Given the description of an element on the screen output the (x, y) to click on. 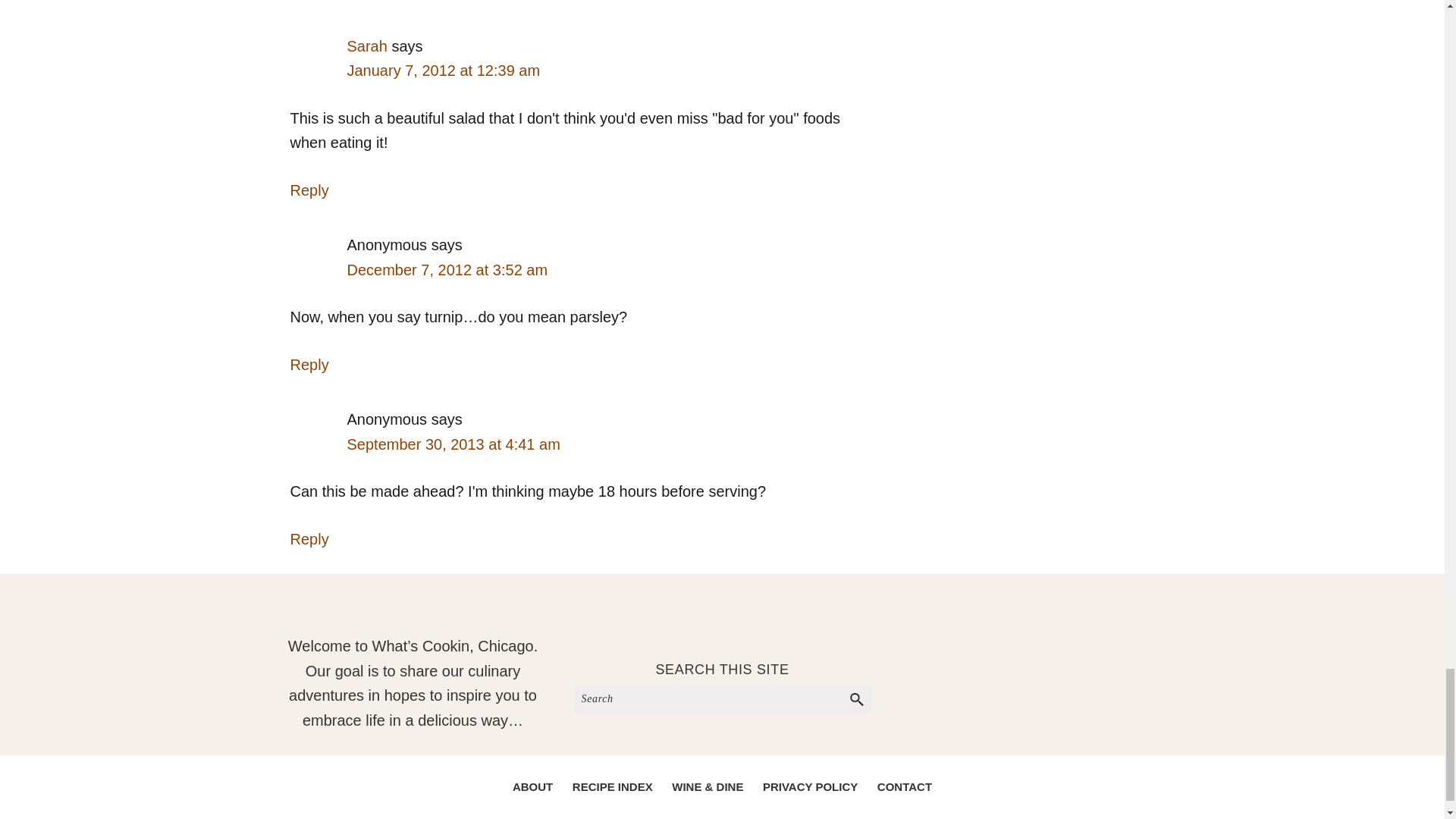
Sarah (367, 45)
January 7, 2012 at 12:39 am (443, 70)
